Given the description of an element on the screen output the (x, y) to click on. 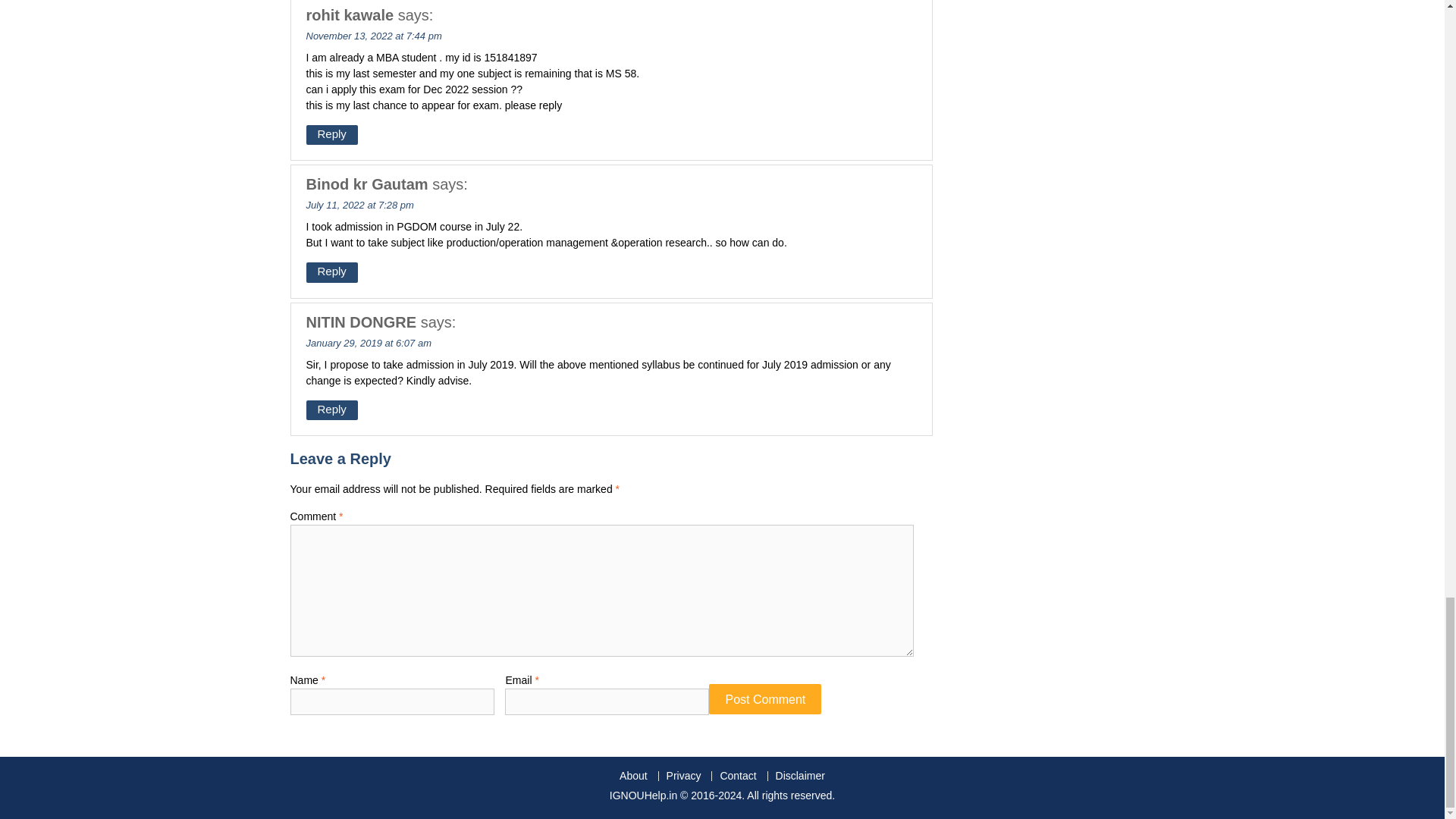
January 29, 2019 at 6:07 am (368, 342)
Post Comment (765, 698)
November 13, 2022 at 7:44 pm (373, 34)
Reply (331, 272)
July 11, 2022 at 7:28 pm (359, 204)
Post Comment (765, 698)
Reply (331, 135)
Reply (331, 409)
